Given the description of an element on the screen output the (x, y) to click on. 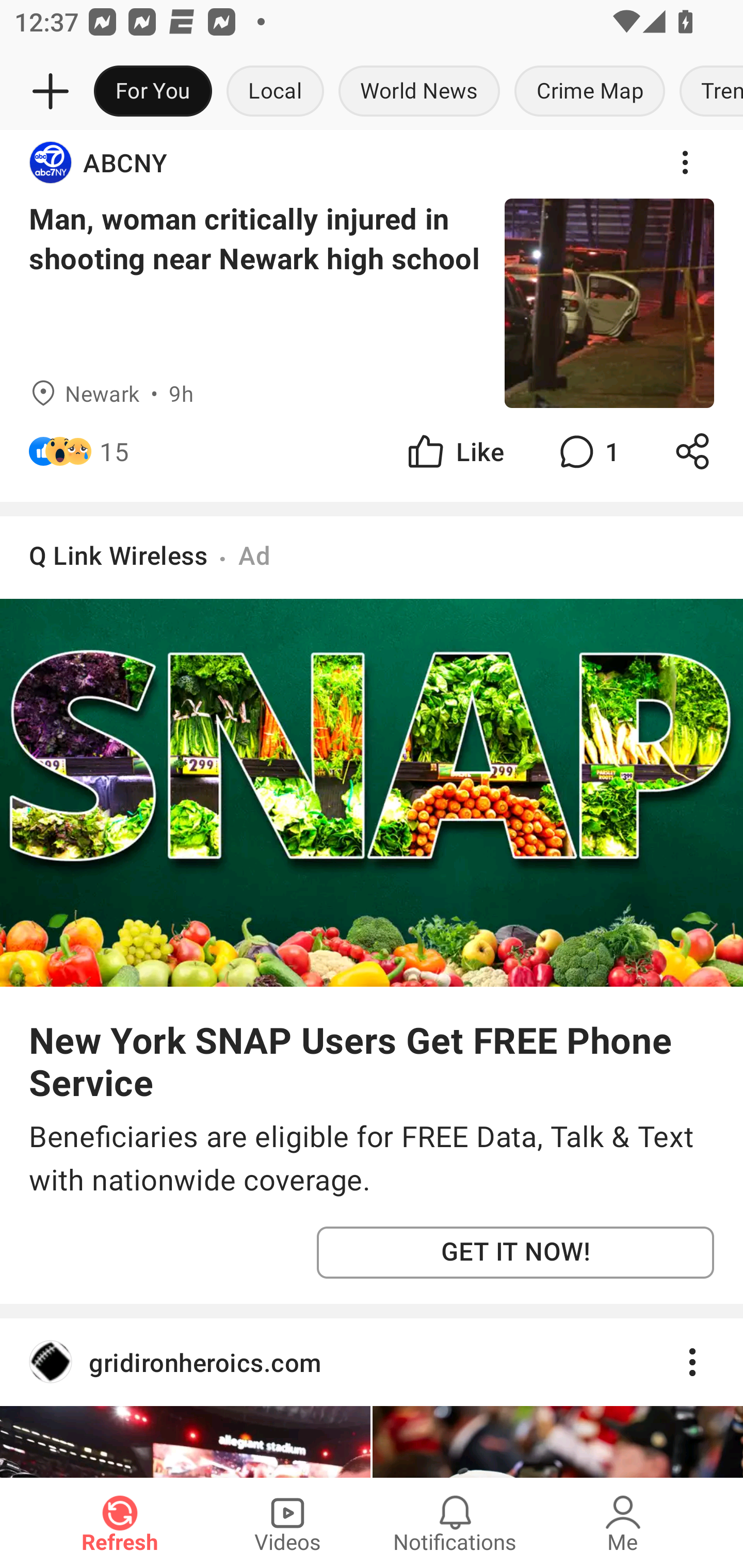
For You (152, 91)
Local (275, 91)
World News (419, 91)
Crime Map (589, 91)
15 (114, 450)
Like (454, 450)
1 (587, 450)
Q Link Wireless (117, 554)
New York SNAP Users Get FREE Phone Service (371, 1060)
GET IT NOW! (515, 1251)
gridironheroics.com (371, 1362)
Videos (287, 1522)
Notifications (455, 1522)
Me (622, 1522)
